Given the description of an element on the screen output the (x, y) to click on. 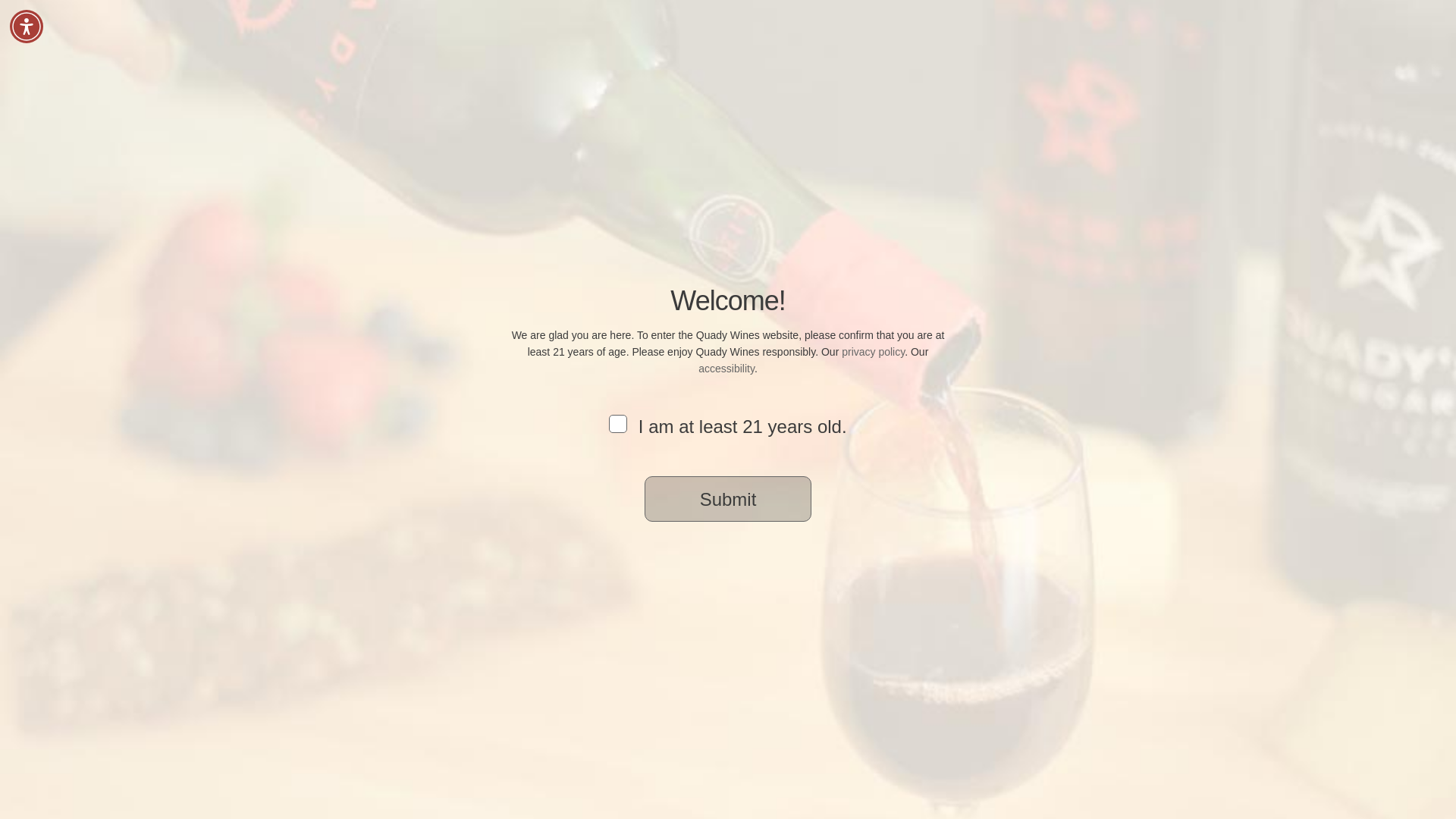
privacy policy (872, 351)
LOCATE (1101, 60)
search-button (497, 163)
Accessibility Menu (26, 26)
Print (1075, 609)
VISIT (828, 60)
Quady Winery Home (407, 41)
VISIT (828, 60)
WINES (764, 60)
CLUB (888, 60)
ABOUT (1029, 60)
Search (1154, 60)
RECIPES (957, 60)
ABOUT (1029, 60)
